Given the description of an element on the screen output the (x, y) to click on. 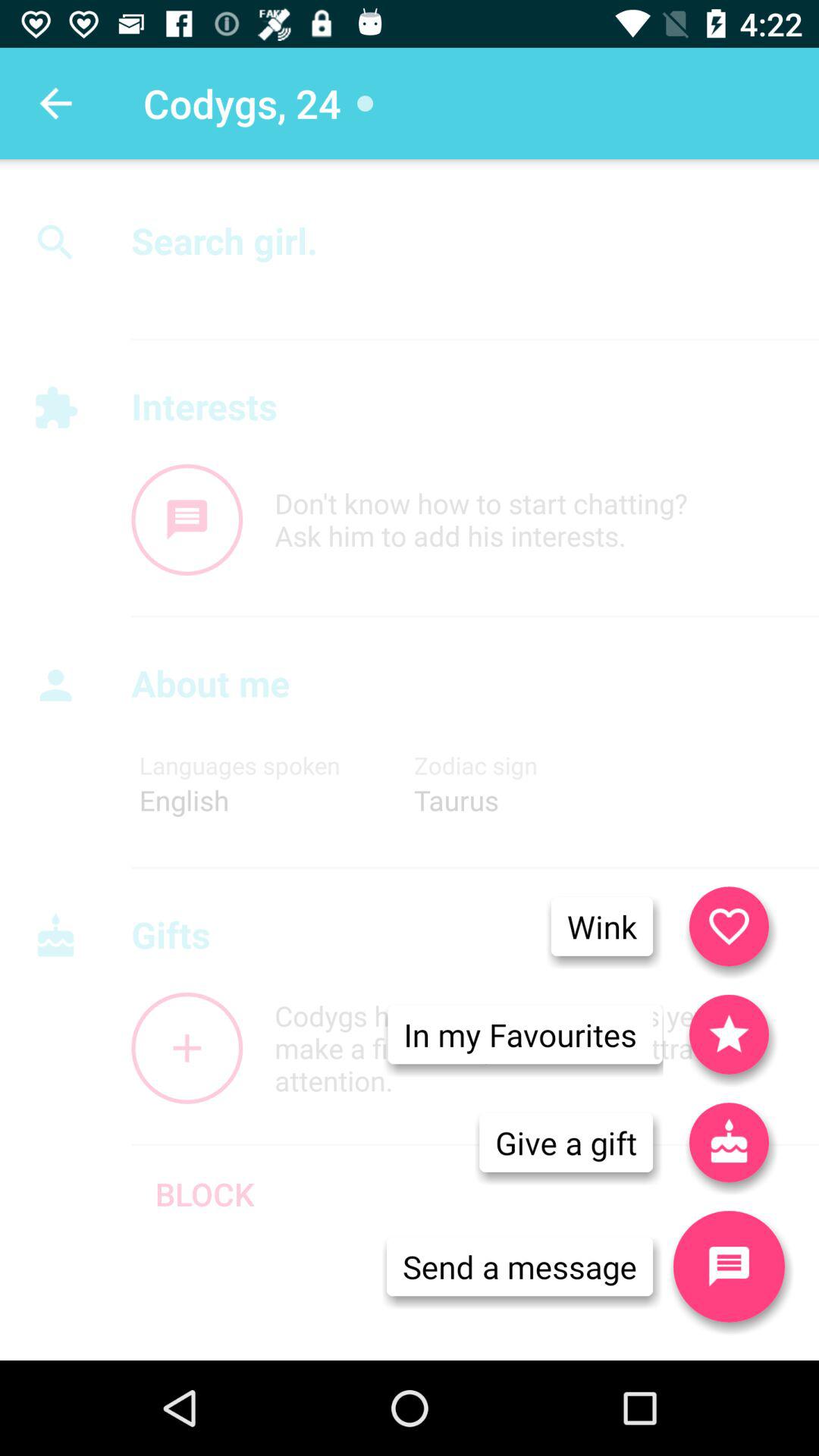
open icon next to the in my favourites item (729, 1142)
